Given the description of an element on the screen output the (x, y) to click on. 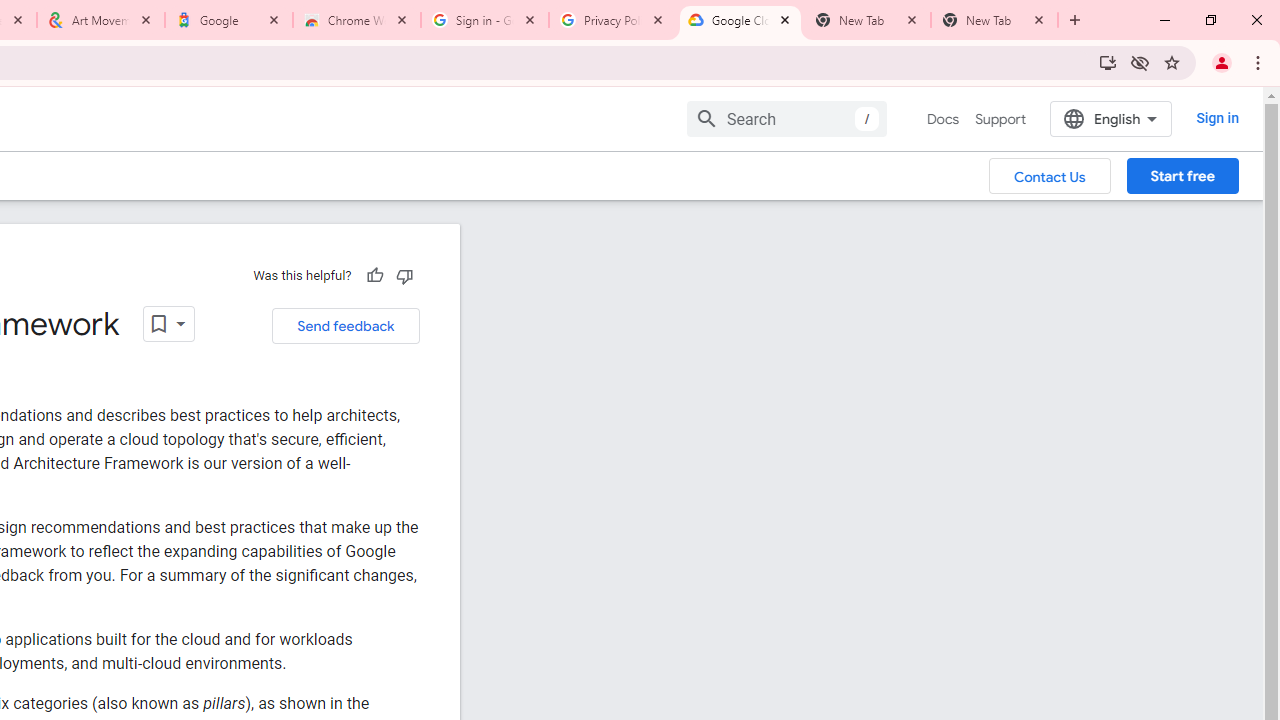
Not helpful (404, 275)
New Tab (994, 20)
Contact Us (1050, 175)
Helpful (374, 275)
Docs, selected (942, 119)
Install Google Cloud (1107, 62)
Google (229, 20)
